Given the description of an element on the screen output the (x, y) to click on. 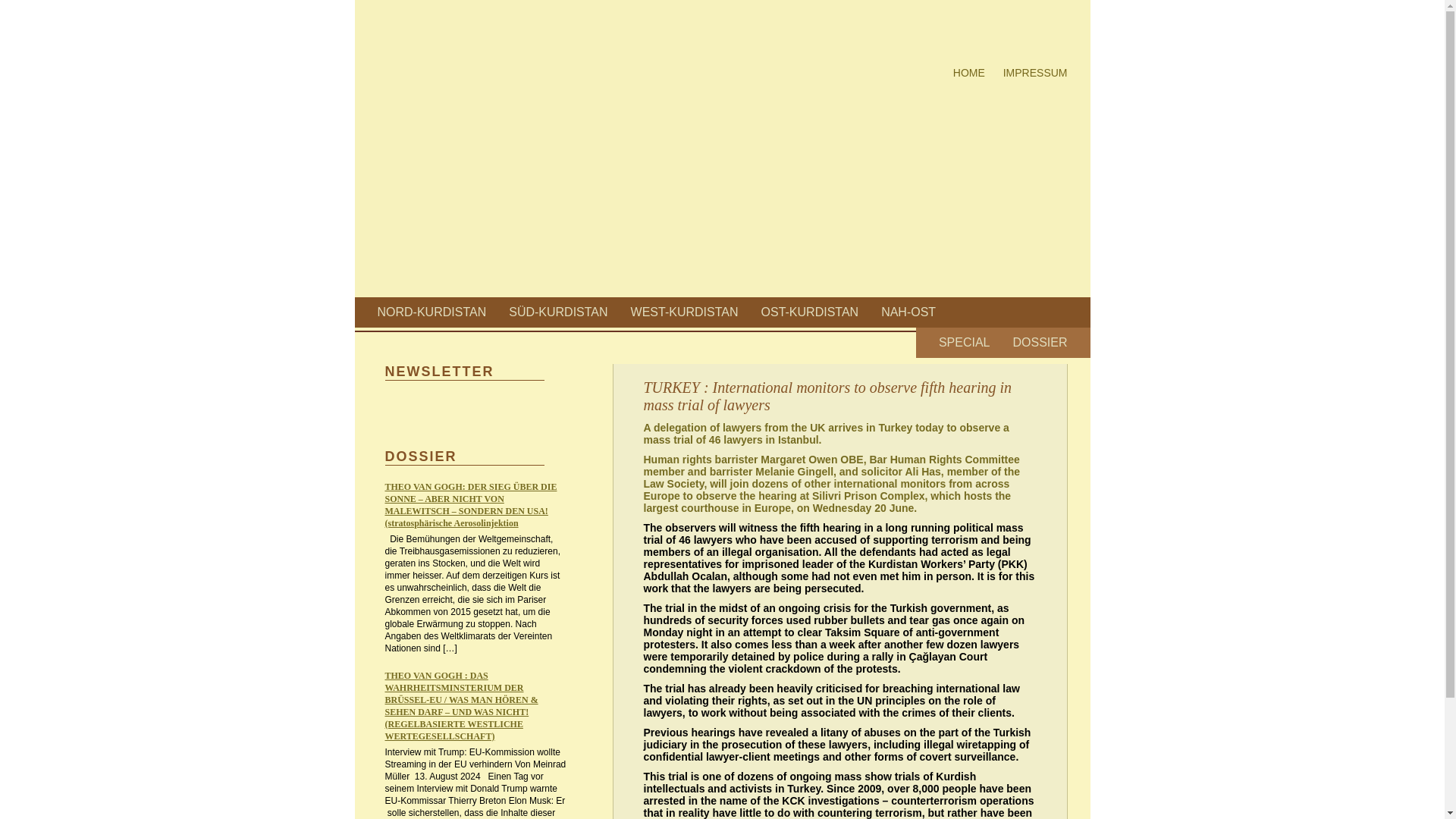
WEST-KURDISTAN (684, 311)
OST-KURDISTAN (810, 311)
SPECIAL (964, 341)
HOME (969, 72)
DOSSIER (1039, 341)
NORD-KURDISTAN (431, 311)
IMPRESSUM (1035, 72)
NAH-OST (908, 311)
